Given the description of an element on the screen output the (x, y) to click on. 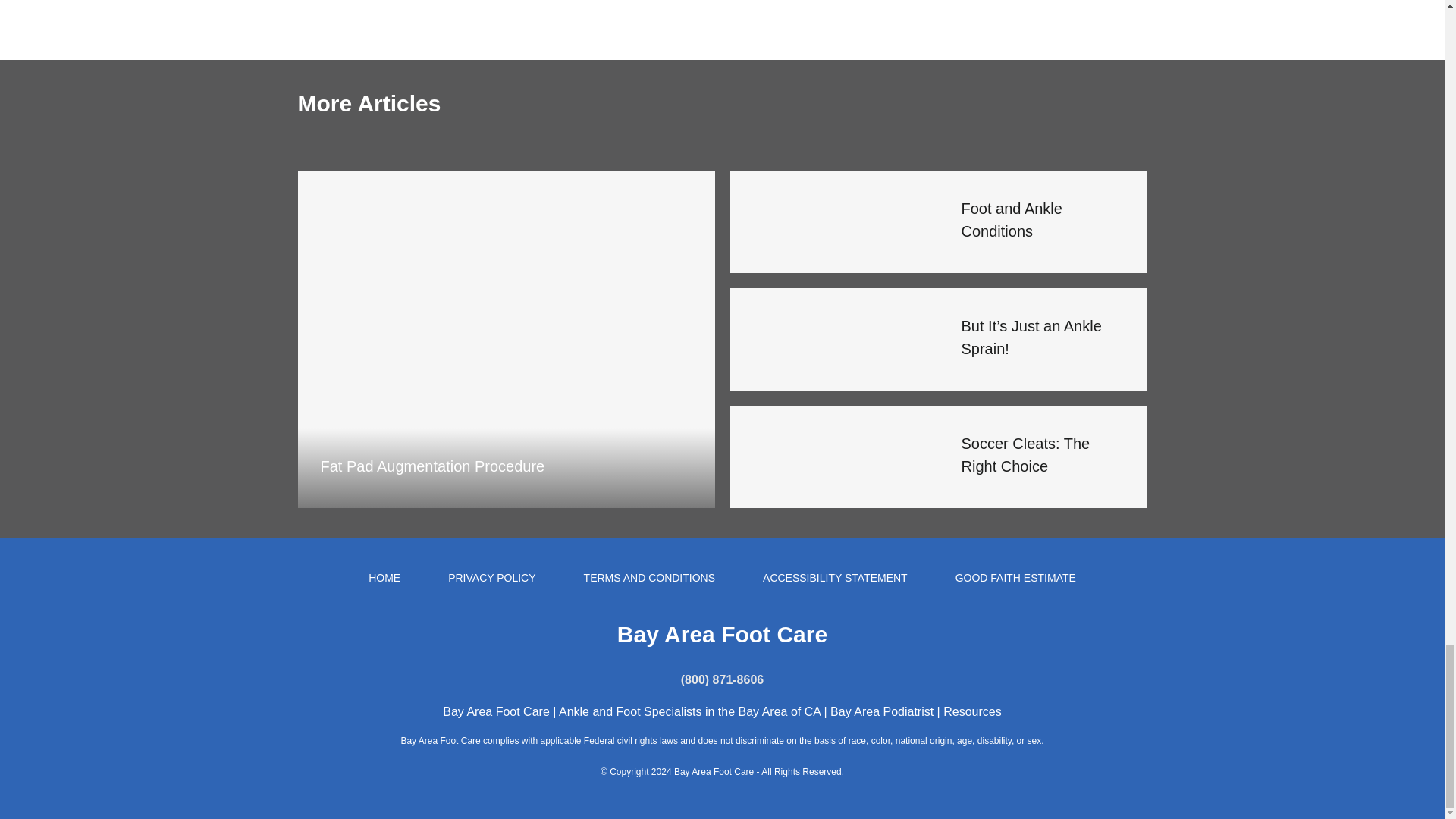
Soccer Cleats: The Right Choice (833, 456)
Foot and Ankle Conditions (833, 221)
